Given the description of an element on the screen output the (x, y) to click on. 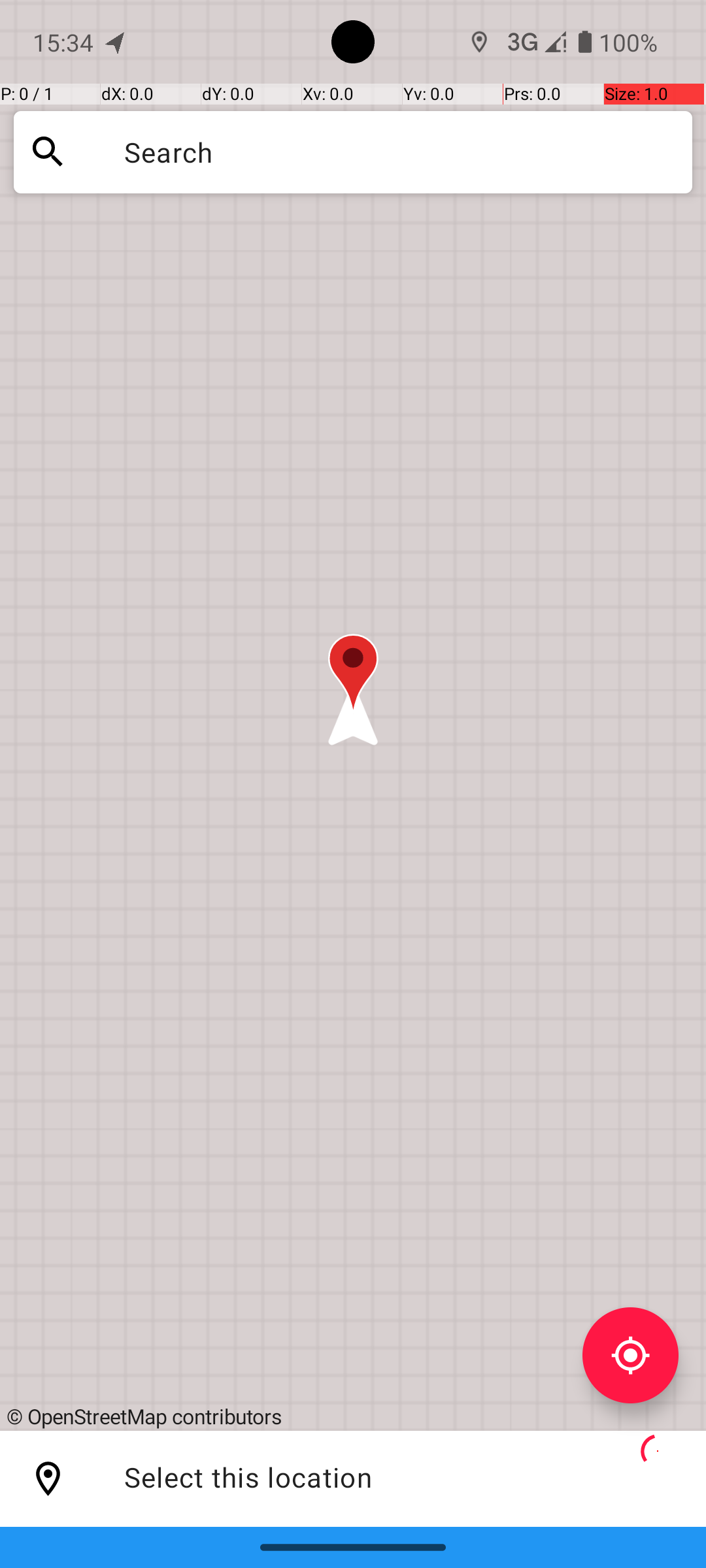
Select this location Element type: android.widget.ImageView (47, 1478)
